Given the description of an element on the screen output the (x, y) to click on. 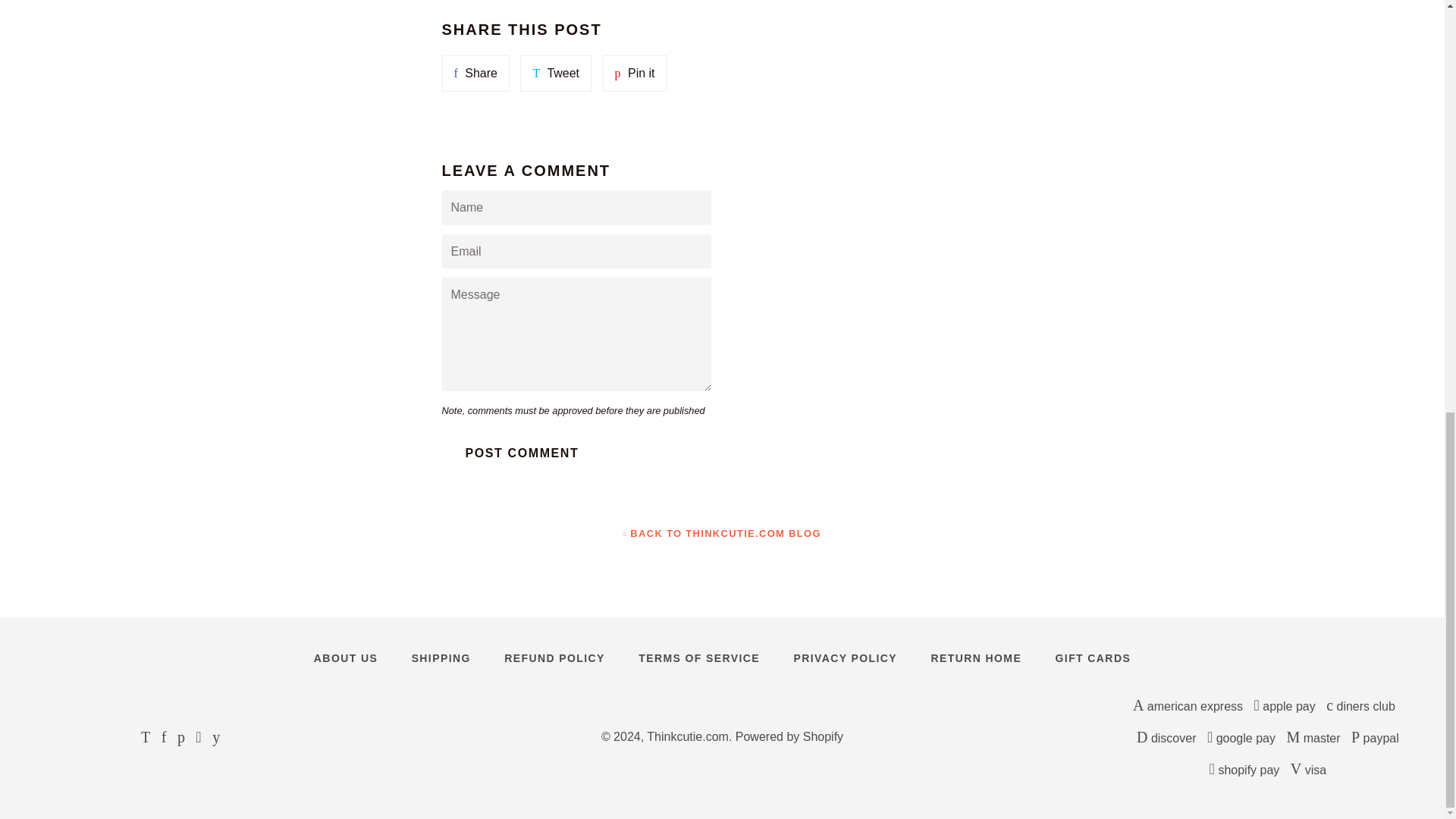
Post comment (521, 452)
Pin on Pinterest (634, 73)
Tweet on Twitter (555, 73)
Share on Facebook (474, 73)
